Given the description of an element on the screen output the (x, y) to click on. 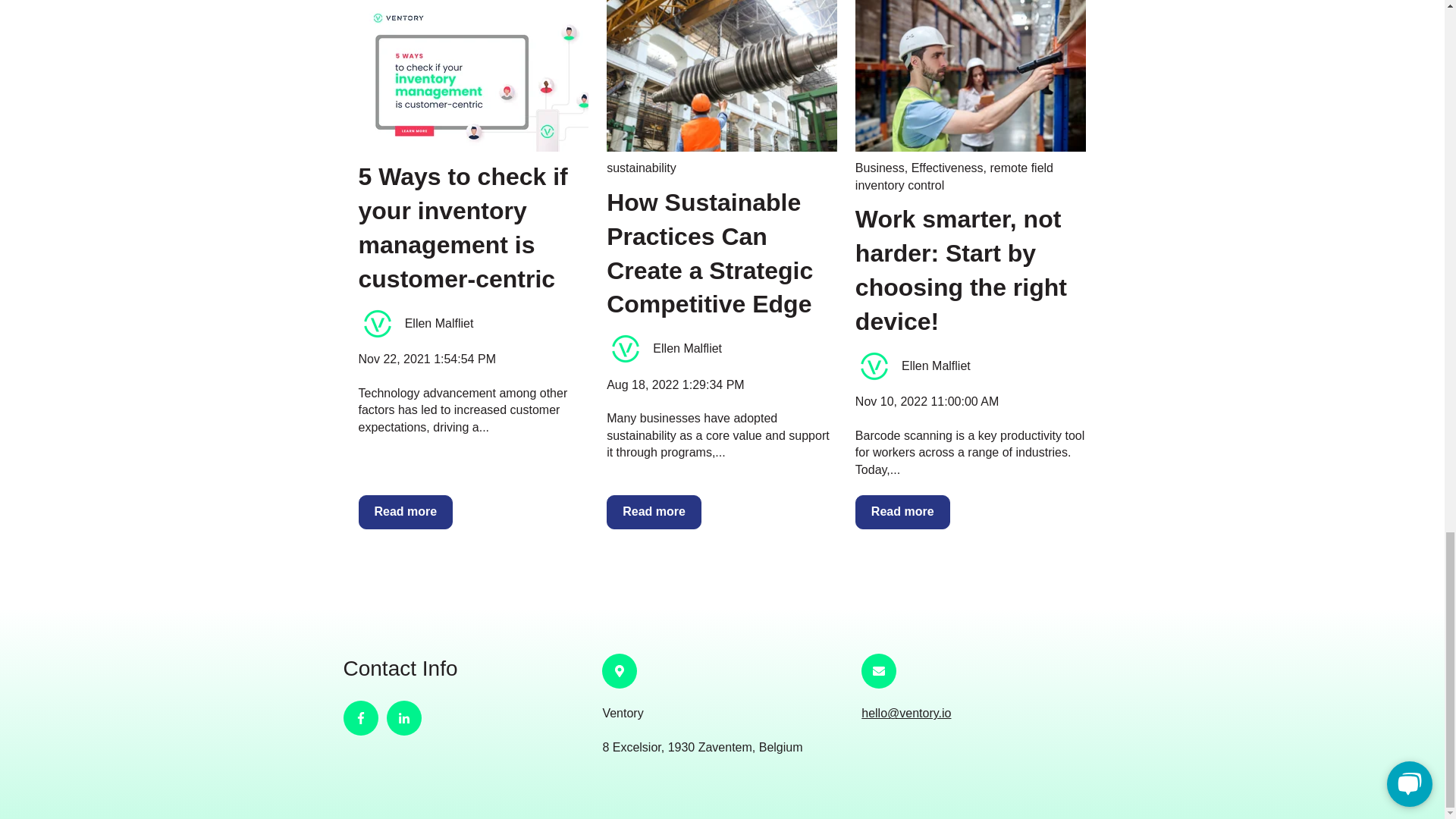
Read more (903, 511)
Read more (654, 511)
Effectiveness (947, 167)
Ellen Malfliet (439, 323)
Ellen Malfliet (936, 365)
Read more (405, 511)
Business (880, 167)
remote field inventory control (954, 175)
sustainability (642, 167)
Ellen Malfliet (687, 348)
